Given the description of an element on the screen output the (x, y) to click on. 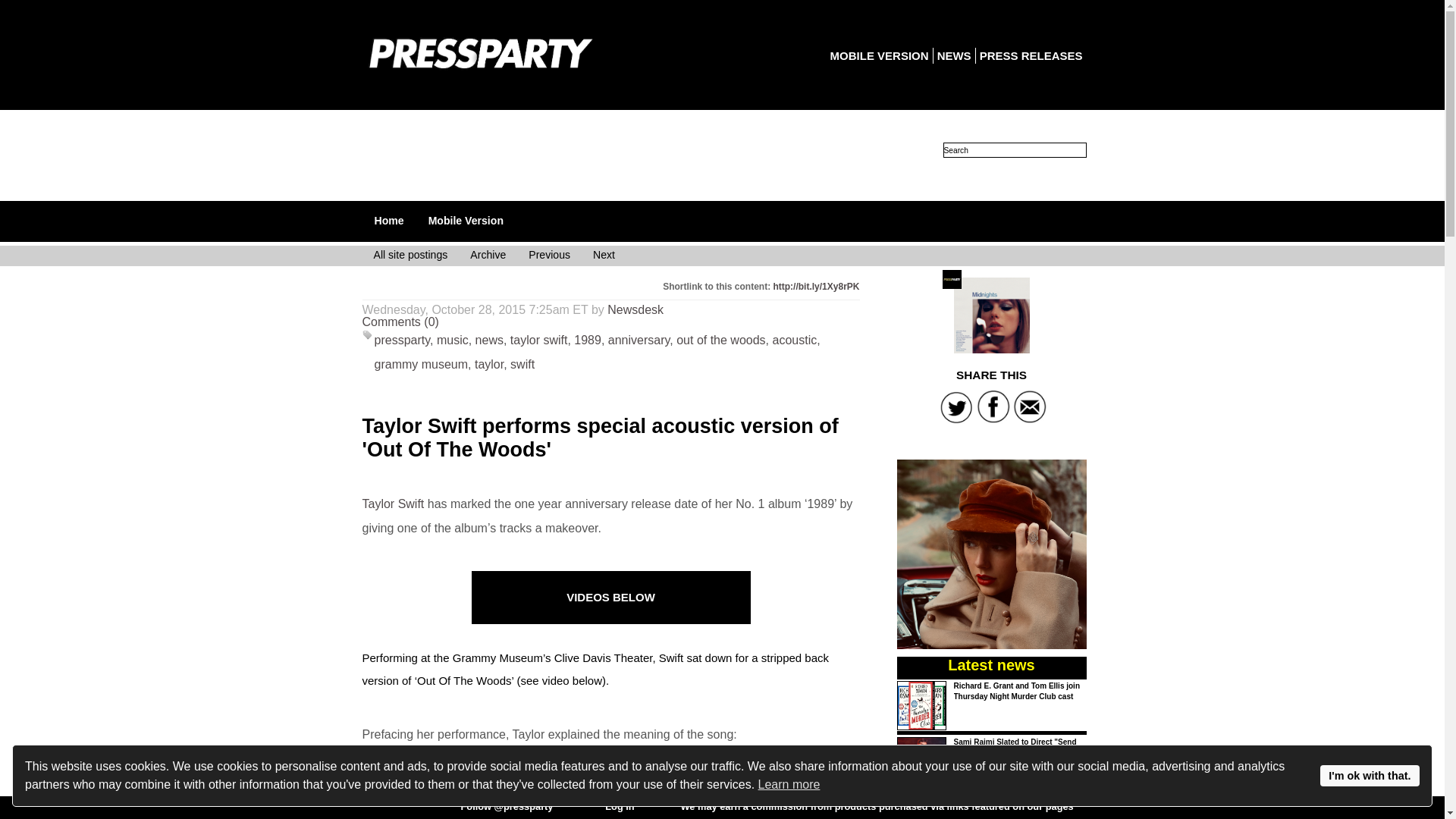
acoustic (793, 339)
Taylor Swift (991, 314)
Search (1014, 150)
I'm ok with that. (1369, 775)
Search (1014, 150)
Next (604, 255)
taylor (488, 364)
Home (389, 220)
PRESS RELEASES (1031, 55)
Taylor Swift (393, 503)
out of the woods (721, 339)
Learn more (789, 784)
music (452, 339)
VIDEOS BELOW (610, 596)
Previous (549, 255)
